Given the description of an element on the screen output the (x, y) to click on. 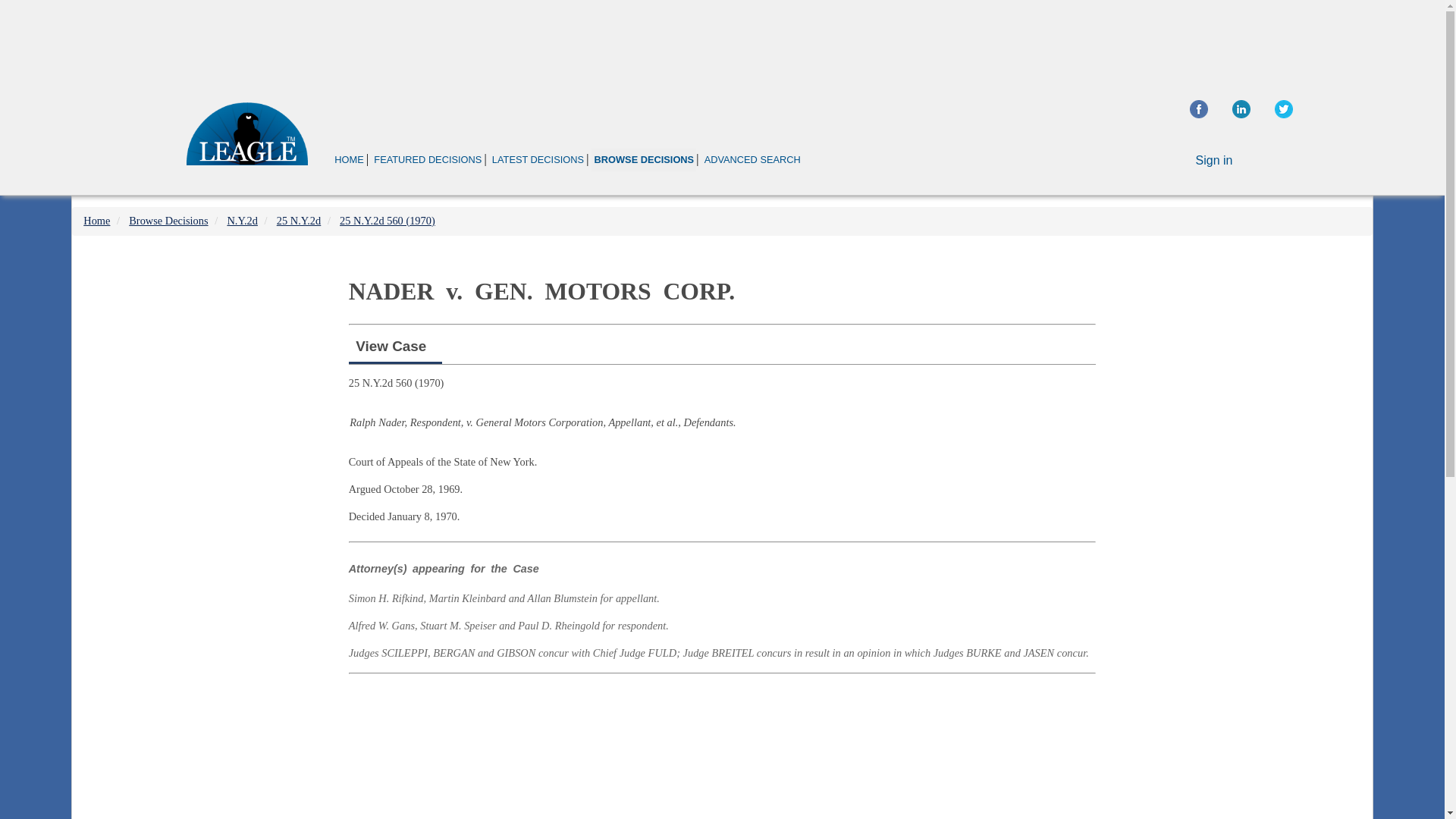
Advertisement (721, 41)
ADVANCED SEARCH (752, 159)
Home (96, 220)
Advertisement (722, 749)
HOME (348, 159)
Browse Decisions (168, 220)
Sign in (1214, 160)
View Case (390, 345)
25 N.Y.2d (298, 220)
N.Y.2d (242, 220)
